Given the description of an element on the screen output the (x, y) to click on. 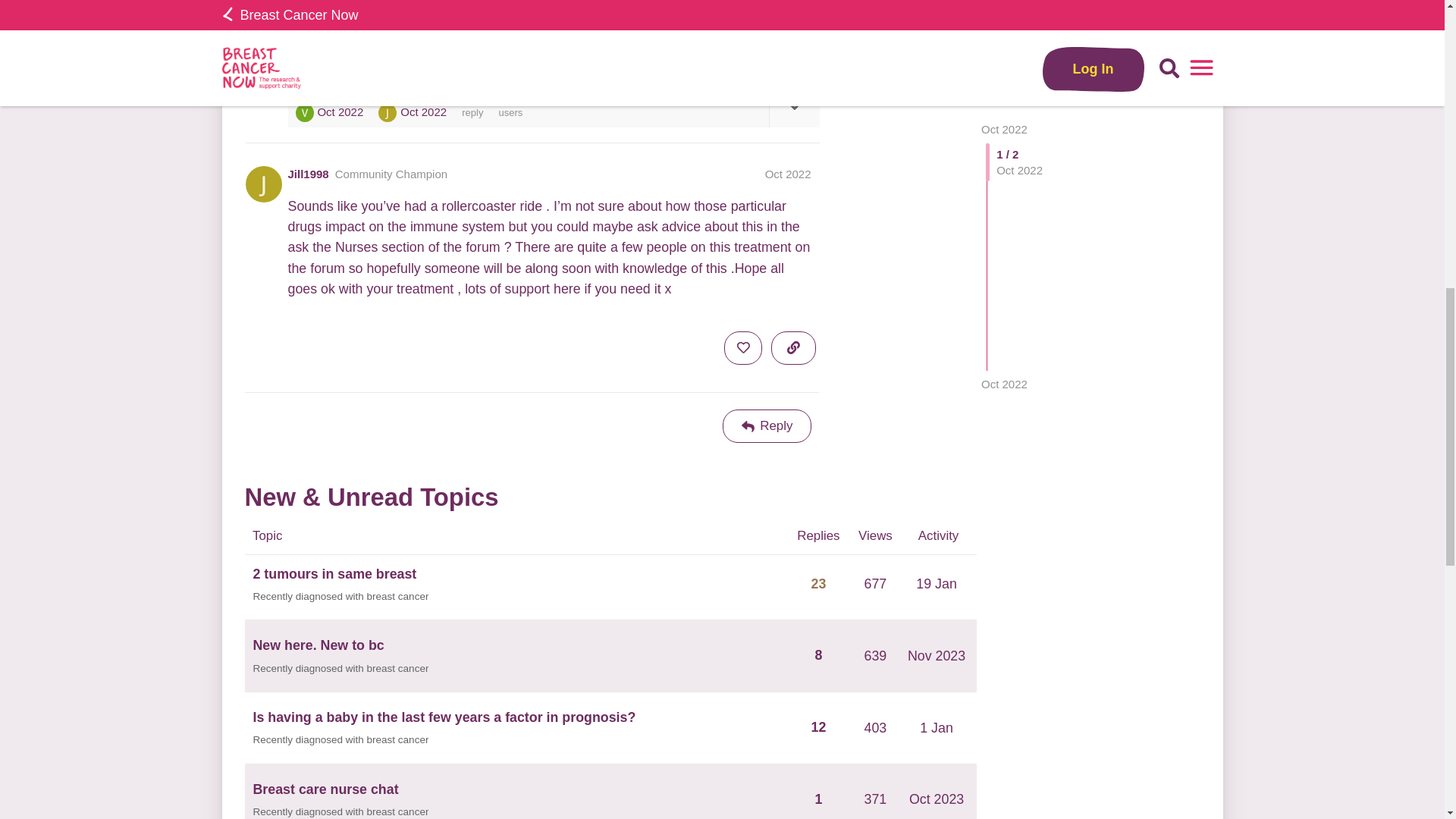
Reply (767, 426)
9 Oct 2022 03:08 (339, 111)
Oct 2022 (787, 173)
Recently diagnosed with breast cancer (341, 668)
9 Oct 2022 03:34 (423, 111)
Jill1998 (308, 173)
Jill1998 (387, 113)
Oct 2022 (1004, 20)
9 Oct 2022 03:34 (1004, 20)
